Given the description of an element on the screen output the (x, y) to click on. 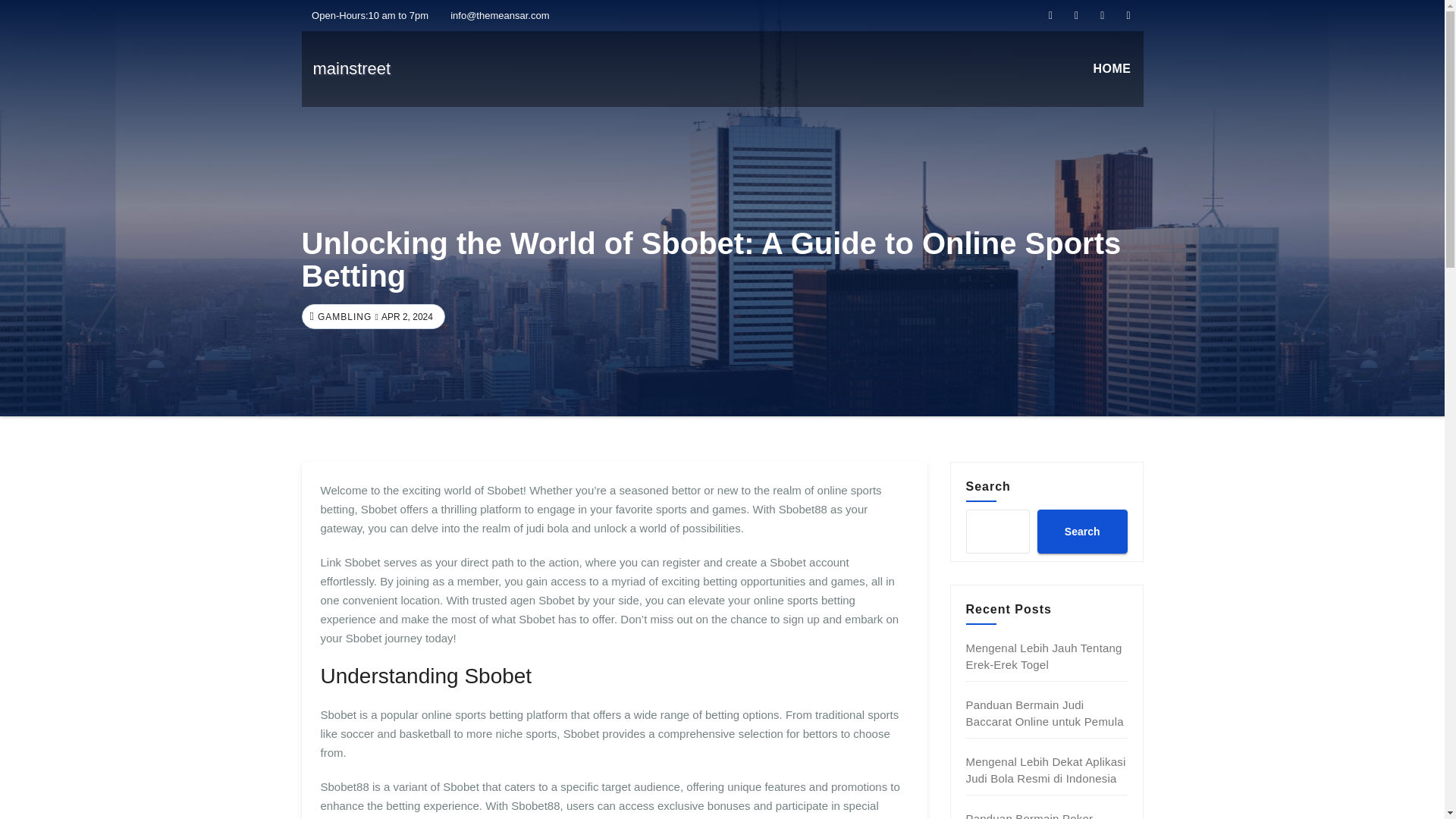
Mengenal Lebih Dekat Aplikasi Judi Bola Resmi di Indonesia (1045, 769)
Open-Hours:10 am to 7pm (365, 15)
Search (1081, 531)
Panduan Bermain Poker Online di Kasino Indonesia (1035, 815)
GAMBLING (342, 317)
Mengenal Lebih Jauh Tentang Erek-Erek Togel (1044, 655)
Panduan Bermain Judi Baccarat Online untuk Pemula (1045, 713)
mainstreet (351, 68)
Home (1111, 69)
HOME (1111, 69)
